Given the description of an element on the screen output the (x, y) to click on. 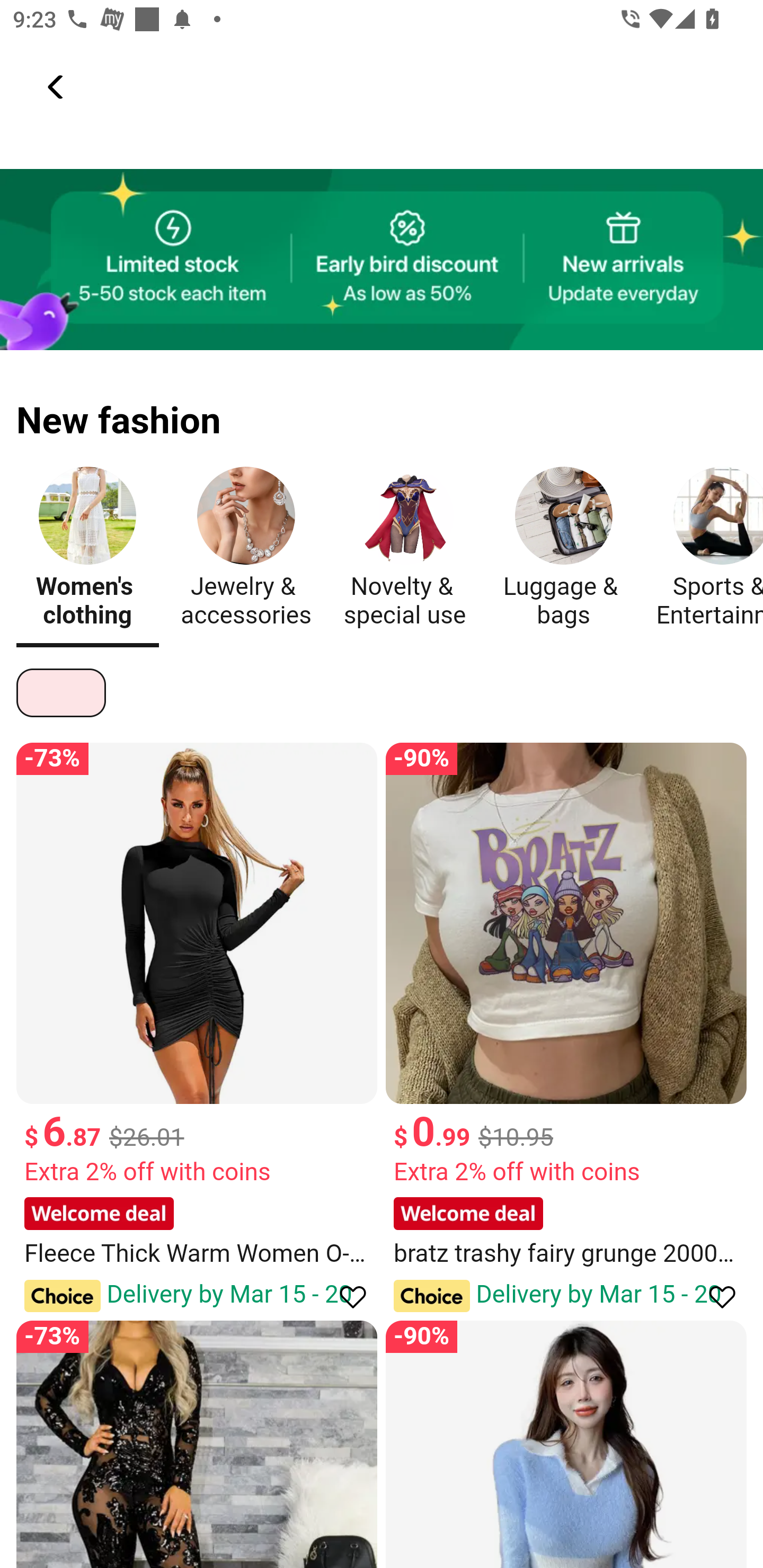
 (57, 86)
New fashion (381, 409)
192x192.png_ Women's clothing (87, 551)
192x192.png_ Jewelry & accessories (246, 551)
192x192.png_ Luggage & bags (563, 551)
192x192.png_ Sports & Entertainment (706, 551)
 (344, 1295)
 (713, 1295)
